Given the description of an element on the screen output the (x, y) to click on. 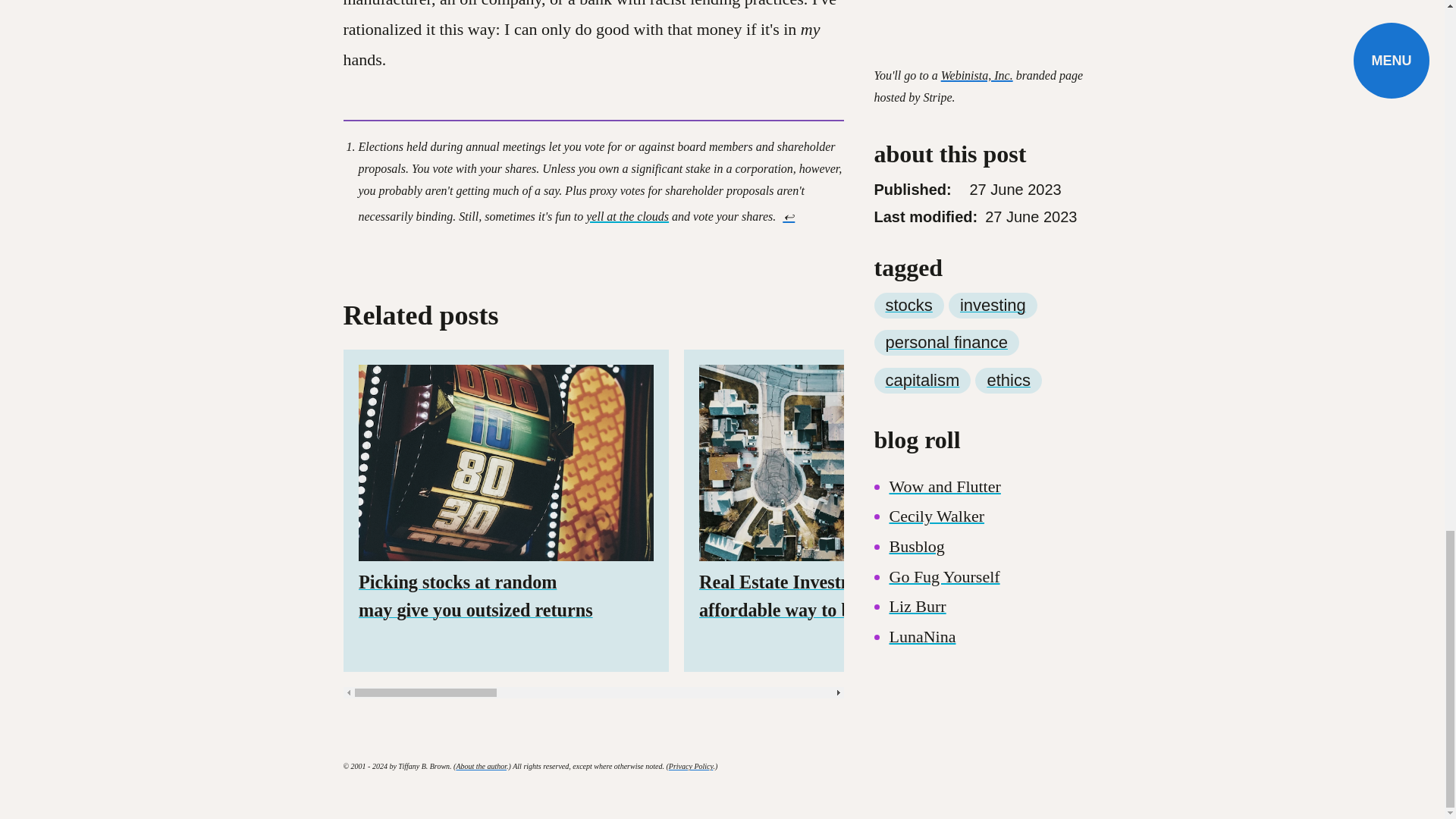
yell at the clouds (627, 215)
Spin-off Corporations and Cash in Lieu of Fractional Shares (1186, 510)
About the author (480, 766)
Picking stocks at random may give you outsized returns (505, 510)
Privacy Policy (690, 766)
